Given the description of an element on the screen output the (x, y) to click on. 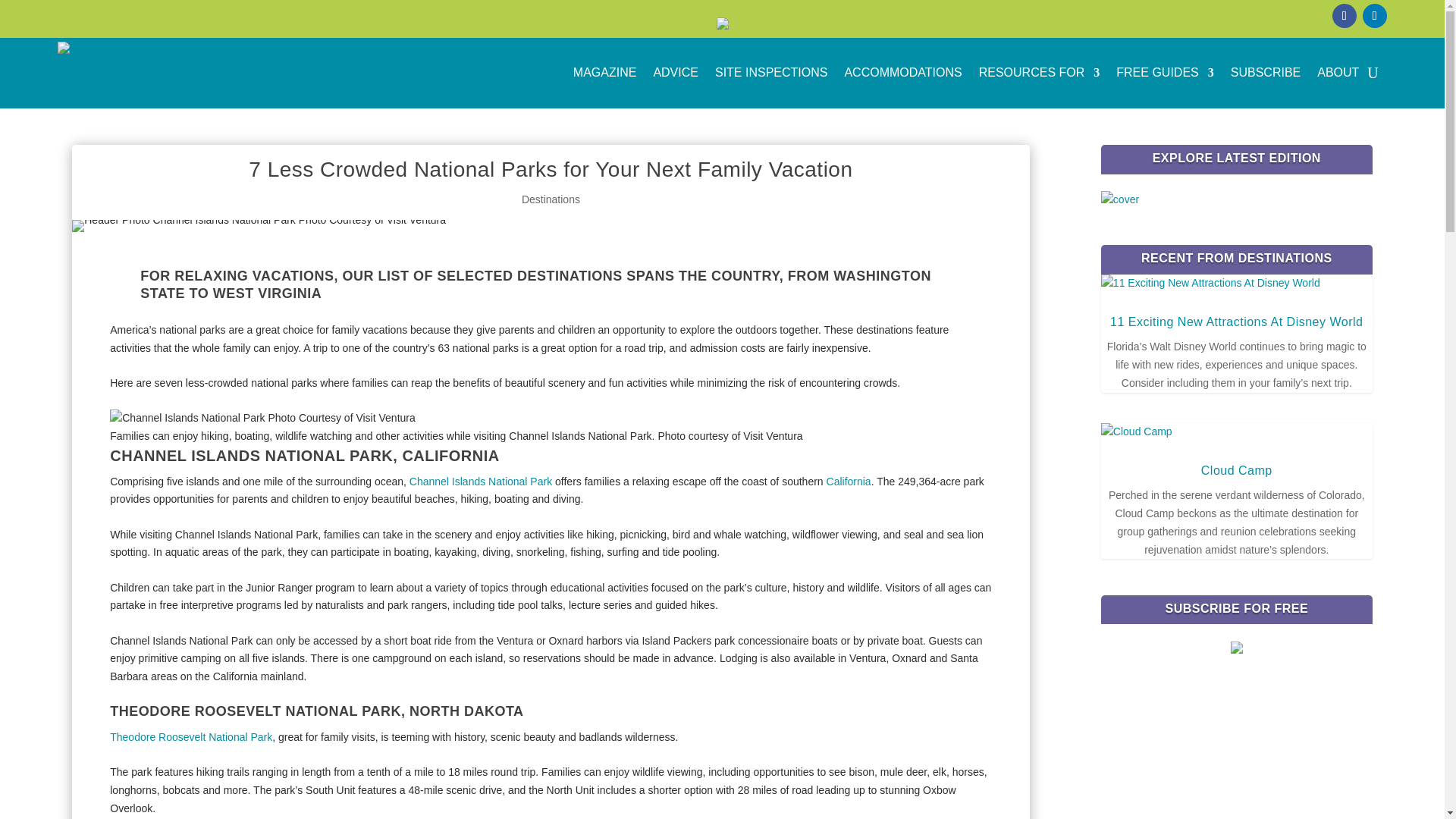
RESOURCES FOR (1039, 72)
11 Exciting New Attractions At Disney World (1235, 321)
SITE INSPECTIONS (770, 72)
SUBSCRIBE (1265, 72)
Destinations (550, 199)
MAGAZINE (605, 72)
Follow on Facebook (1344, 15)
Cloud Camp (1236, 470)
Channel Islands National Park (480, 481)
Theodore Roosevelt National Park (191, 736)
